Given the description of an element on the screen output the (x, y) to click on. 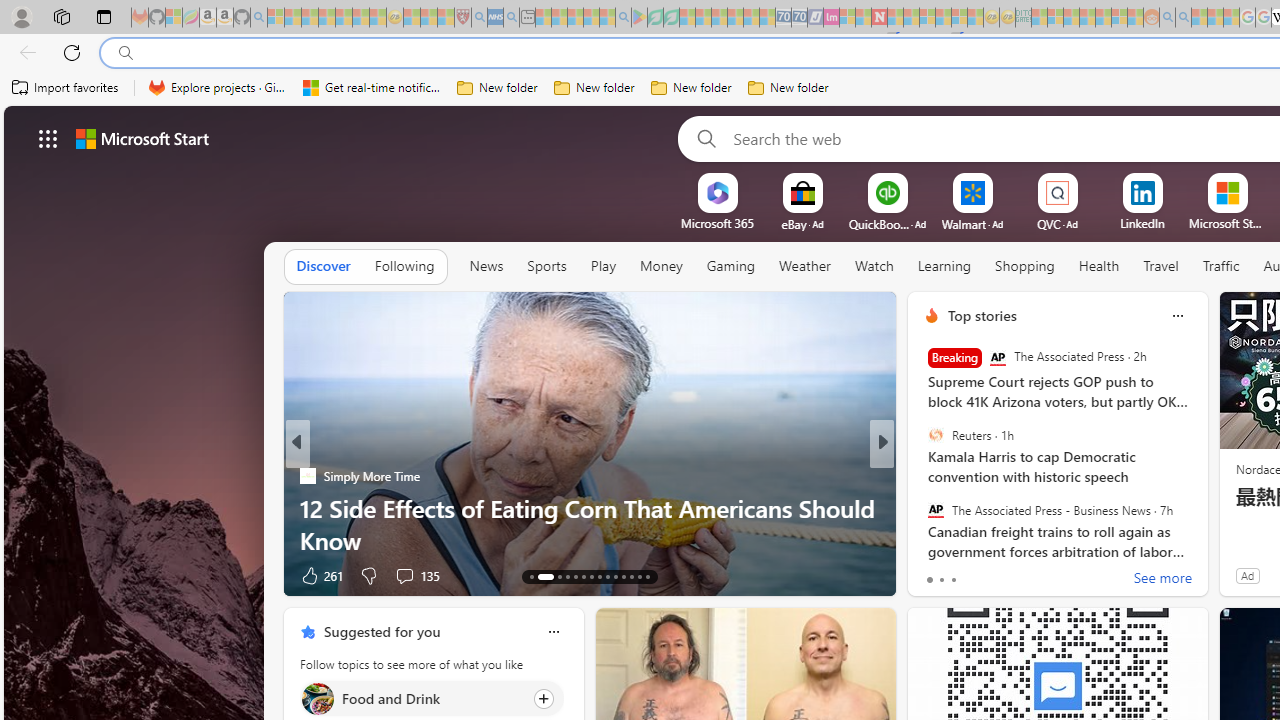
tab-1 (941, 579)
AutomationID: tab-19 (591, 576)
View comments 31 Comment (1019, 575)
View comments 67 Comment (1013, 575)
2k Like (933, 574)
Lucy Diamond (923, 507)
